Given the description of an element on the screen output the (x, y) to click on. 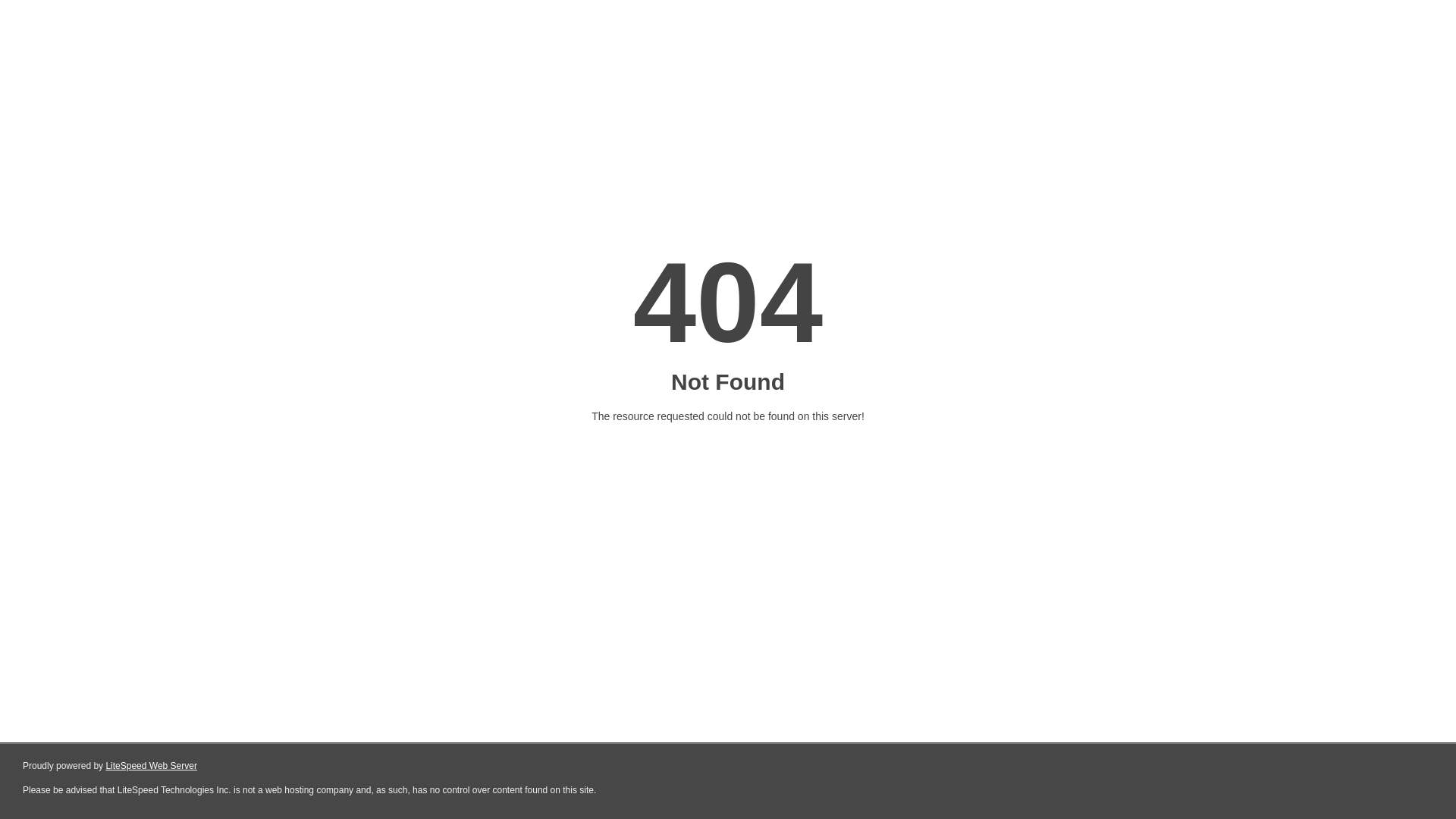
LiteSpeed Web Server Element type: text (151, 765)
